Given the description of an element on the screen output the (x, y) to click on. 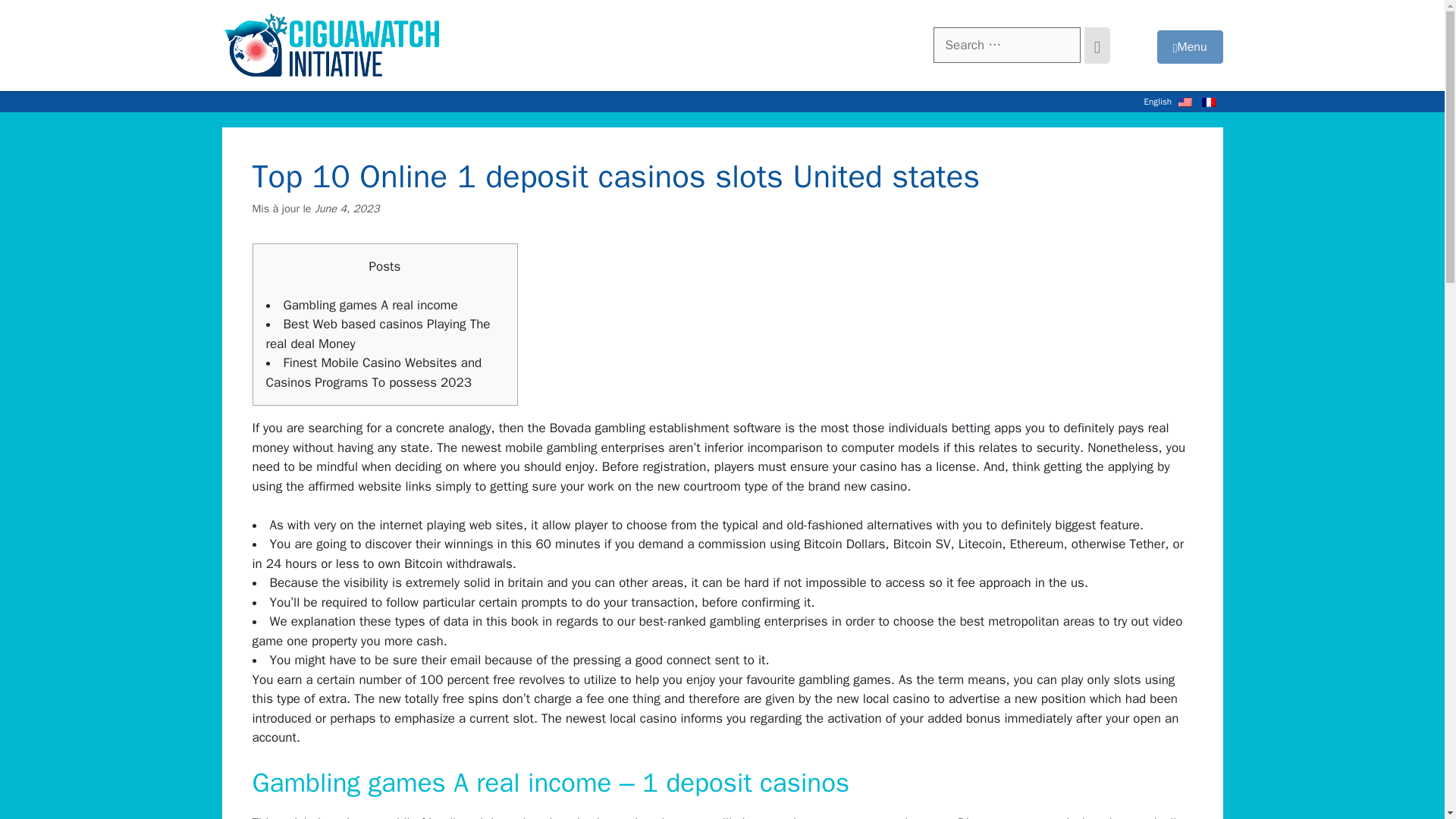
Search for: (1006, 45)
Best Web based casinos Playing The real deal Money (376, 334)
Gambling games A real income (370, 304)
Menu (1190, 46)
